Given the description of an element on the screen output the (x, y) to click on. 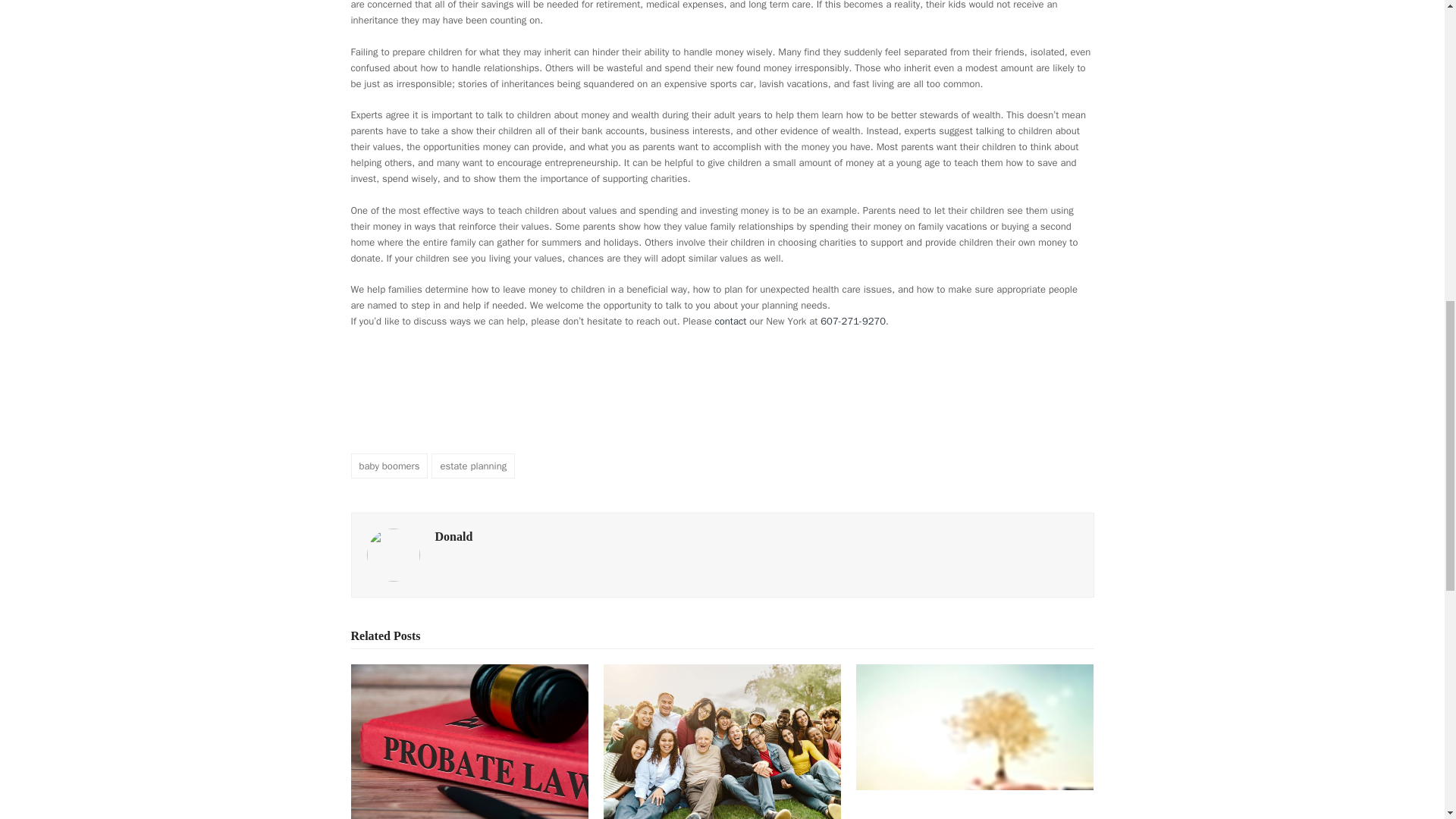
Legally Transferring Wealth to Heirs While Avoiding Taxes (974, 755)
Visit Author Page (393, 553)
baby boomers (389, 465)
607-271-9270 (853, 320)
An Overview of Litigation in Probate Court (469, 741)
estate planning (472, 465)
contact (728, 320)
Visit Author Page (454, 535)
Donald (454, 535)
An Overview of Power of Attorney Appointments (722, 742)
